Given the description of an element on the screen output the (x, y) to click on. 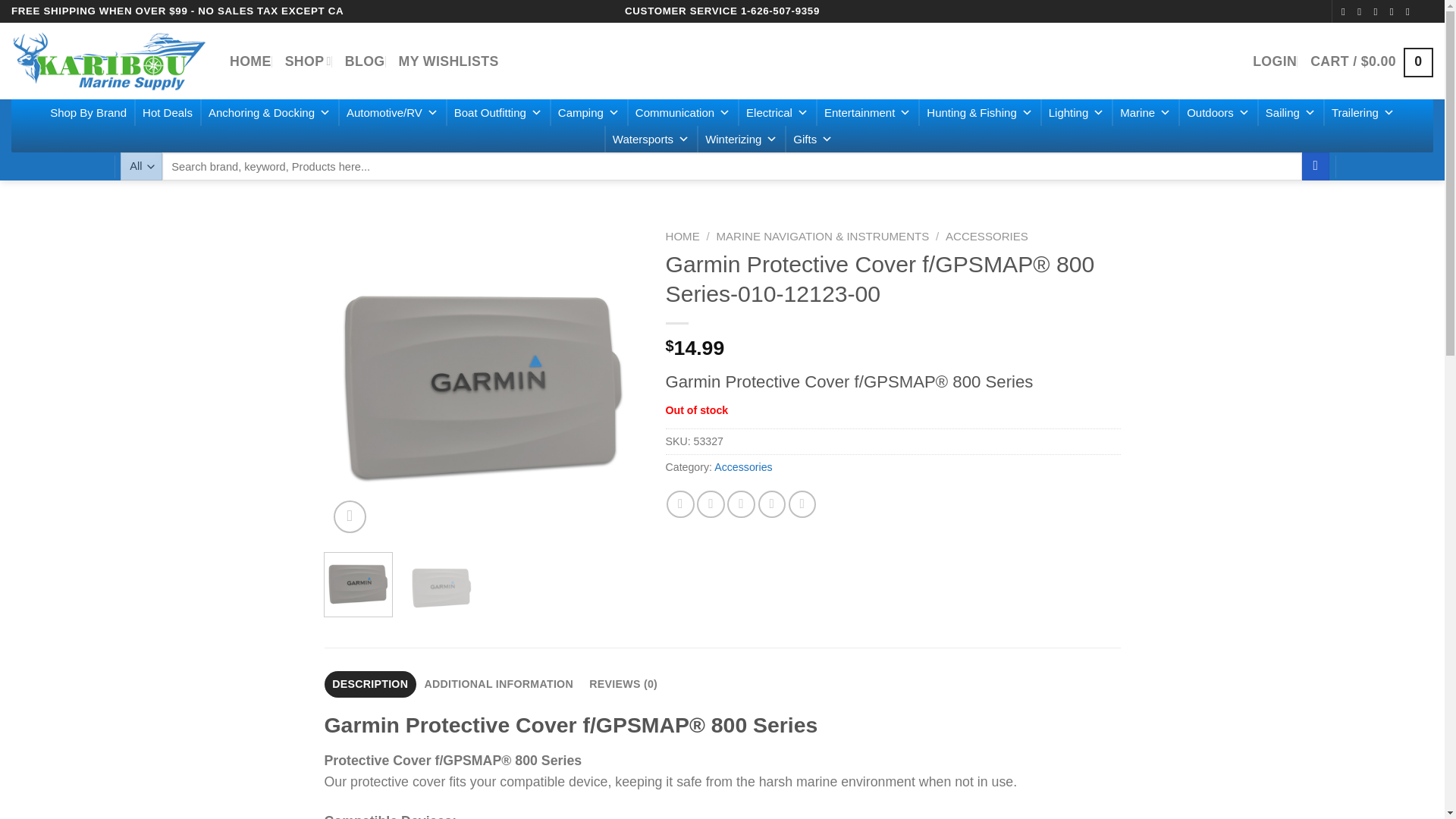
Cart (1371, 61)
Hot Deals (167, 112)
MY WISHLISTS (448, 61)
Shop By Brand (87, 112)
